Given the description of an element on the screen output the (x, y) to click on. 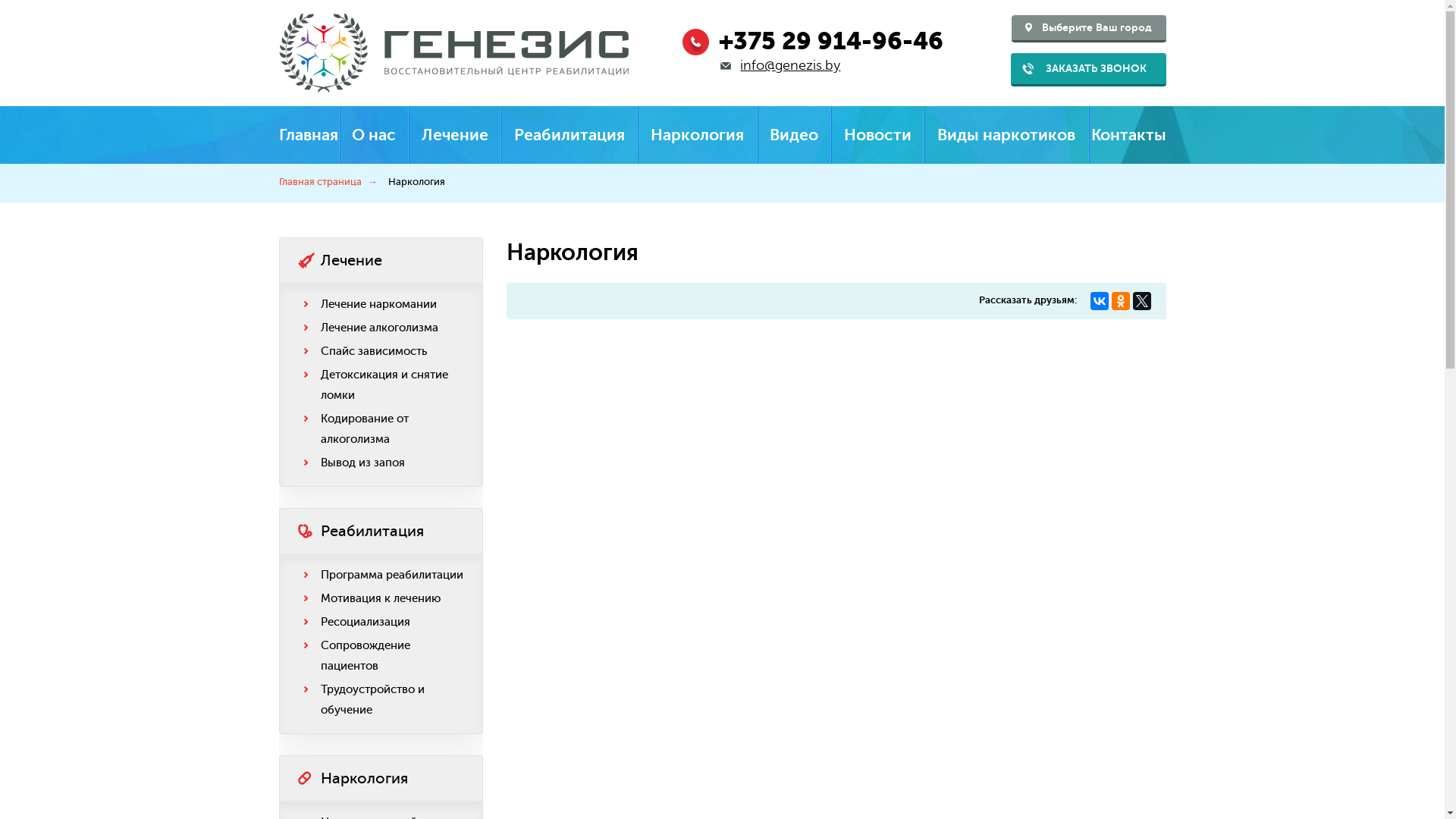
info@genezis.by Element type: text (790, 64)
+375 29 914-96-46 Element type: text (830, 41)
Twitter Element type: hover (1141, 300)
